Given the description of an element on the screen output the (x, y) to click on. 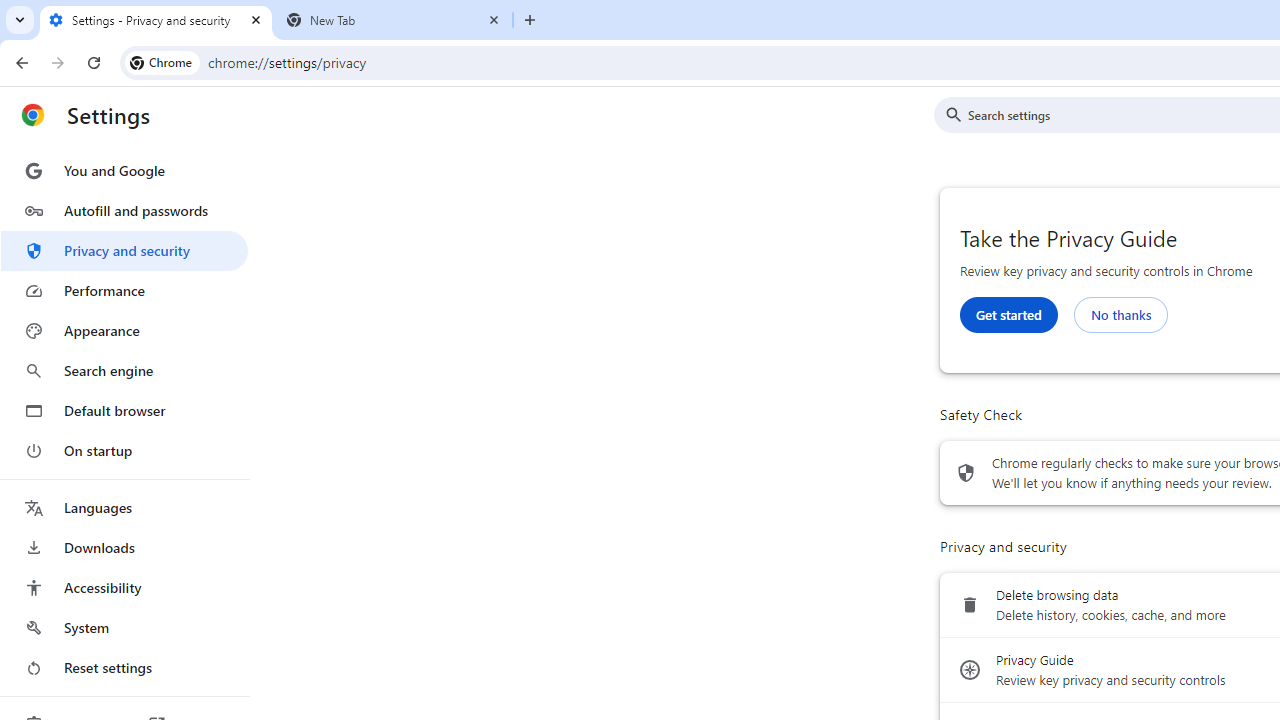
Search engine (124, 370)
Reset settings (124, 668)
You and Google (124, 170)
Settings - Privacy and security (156, 20)
Appearance (124, 331)
Performance (124, 290)
Default browser (124, 410)
